Given the description of an element on the screen output the (x, y) to click on. 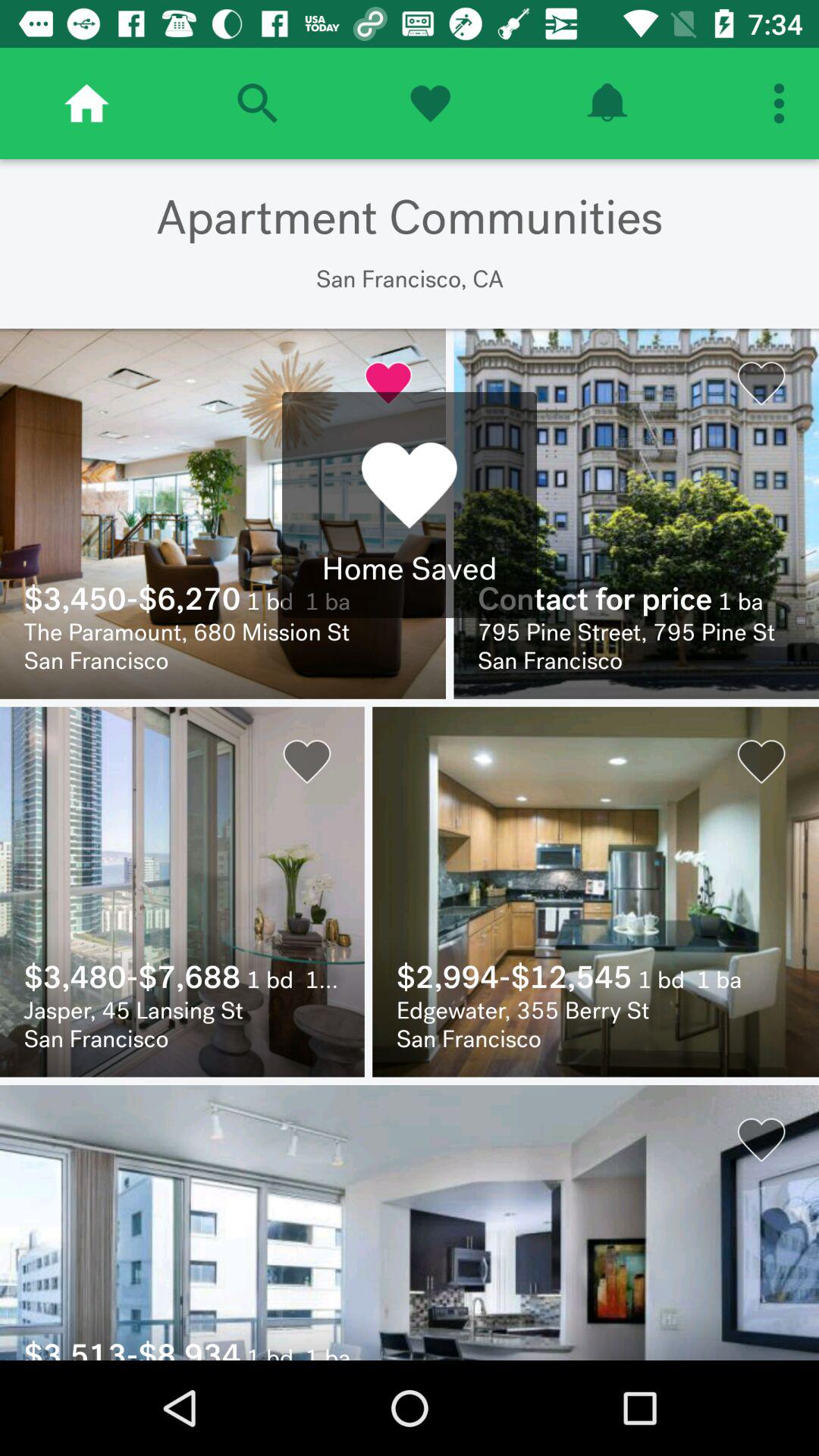
open favorites menu (429, 103)
